Given the description of an element on the screen output the (x, y) to click on. 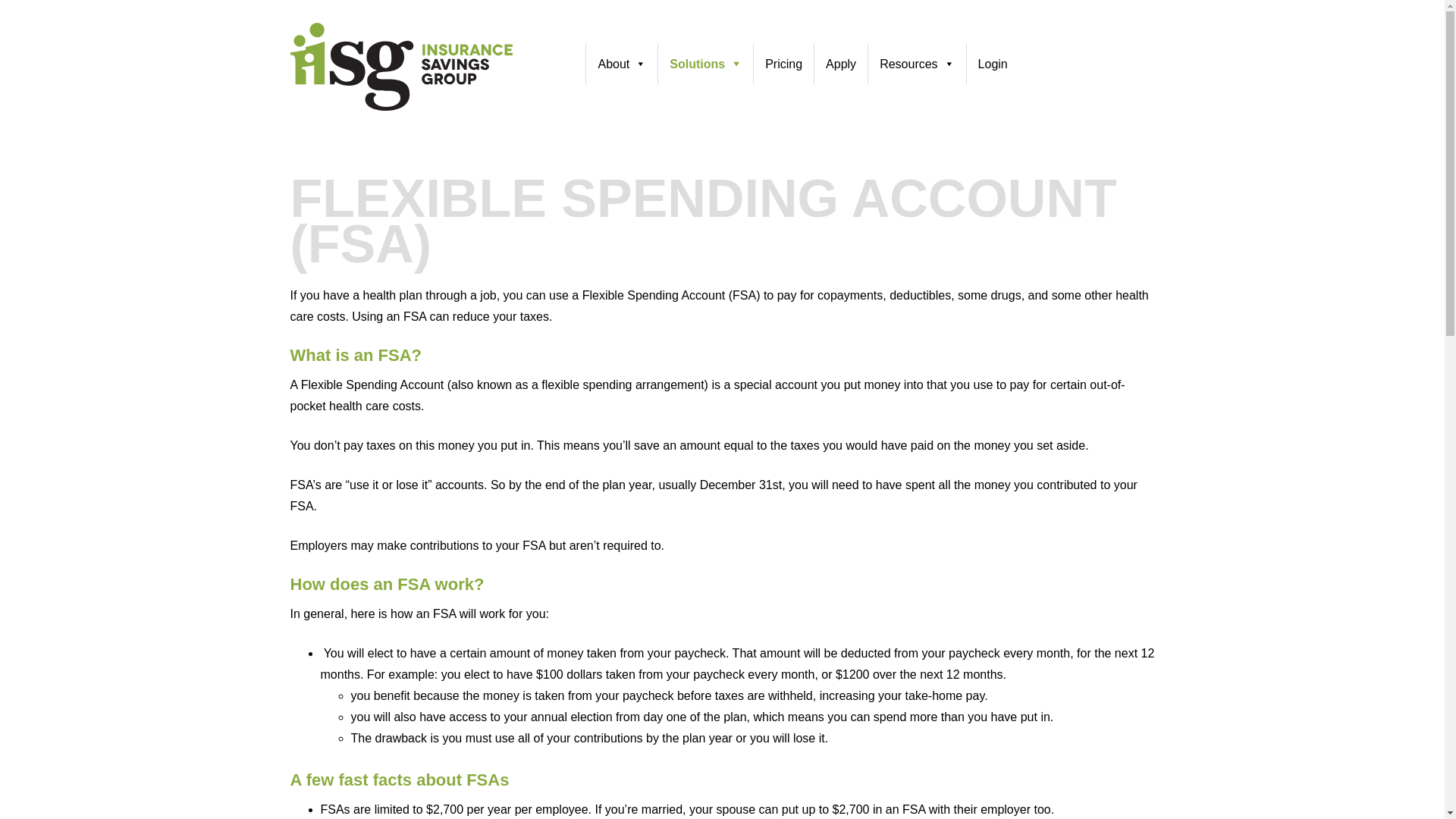
Solutions (705, 64)
About (621, 64)
Login (992, 64)
Pricing (782, 64)
Apply (840, 64)
Resources (916, 64)
